Given the description of an element on the screen output the (x, y) to click on. 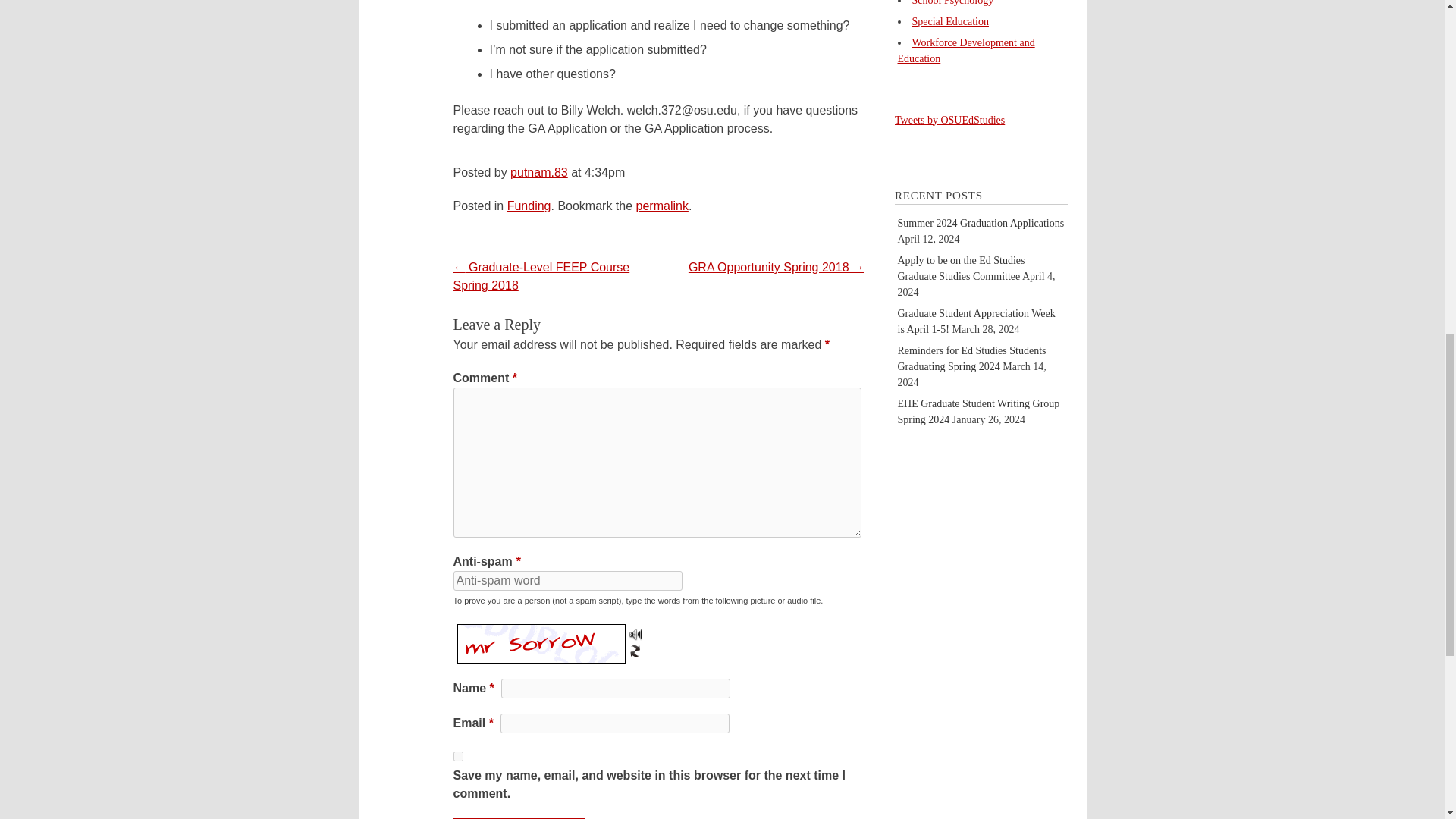
yes (457, 756)
View all posts by putnam.83 (539, 172)
